Given the description of an element on the screen output the (x, y) to click on. 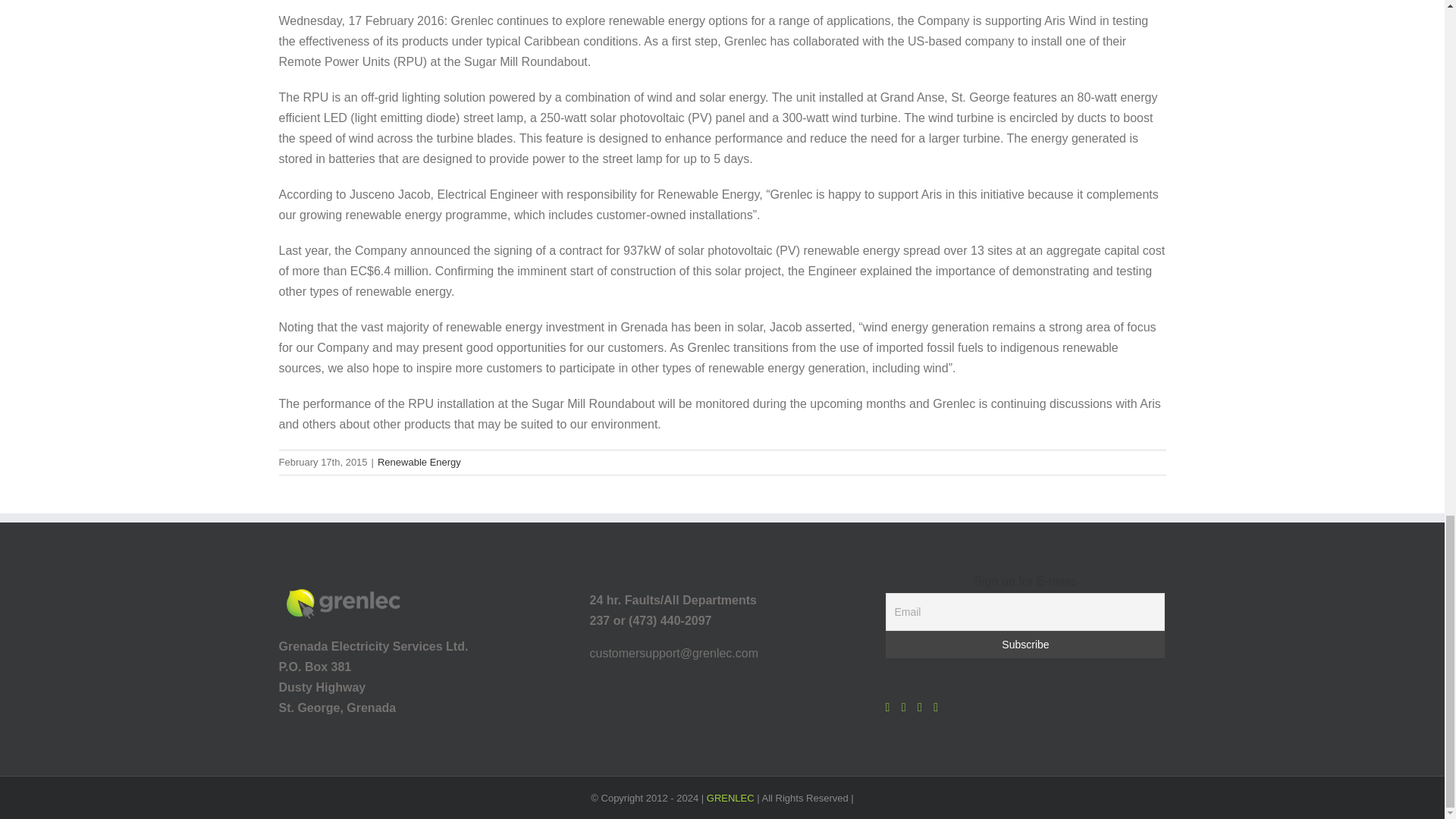
Subscribe (1024, 644)
